Given the description of an element on the screen output the (x, y) to click on. 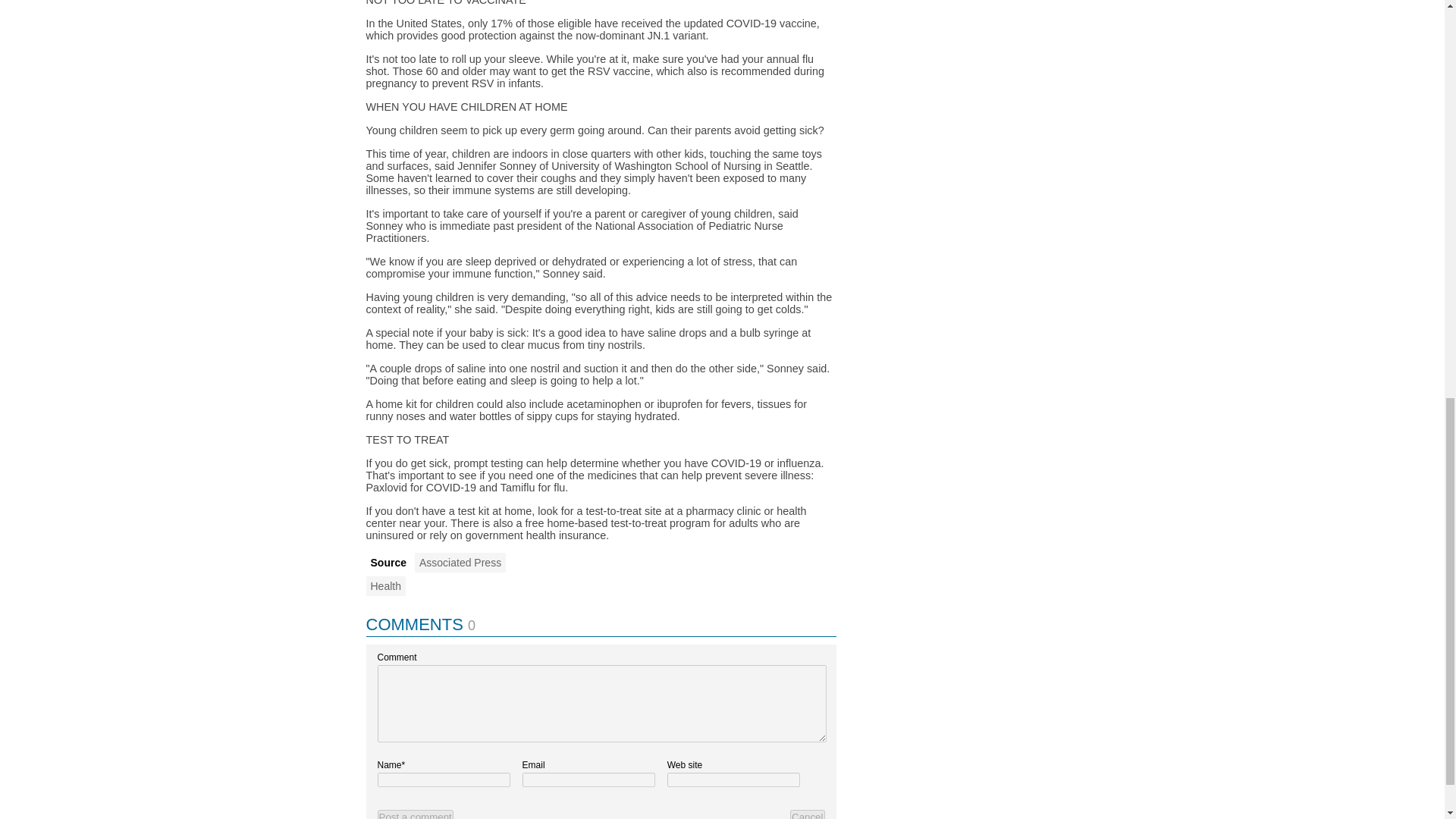
Post a comment (414, 814)
Associated Press (459, 562)
Cancel (807, 814)
Post a comment (414, 814)
Health (384, 586)
